Given the description of an element on the screen output the (x, y) to click on. 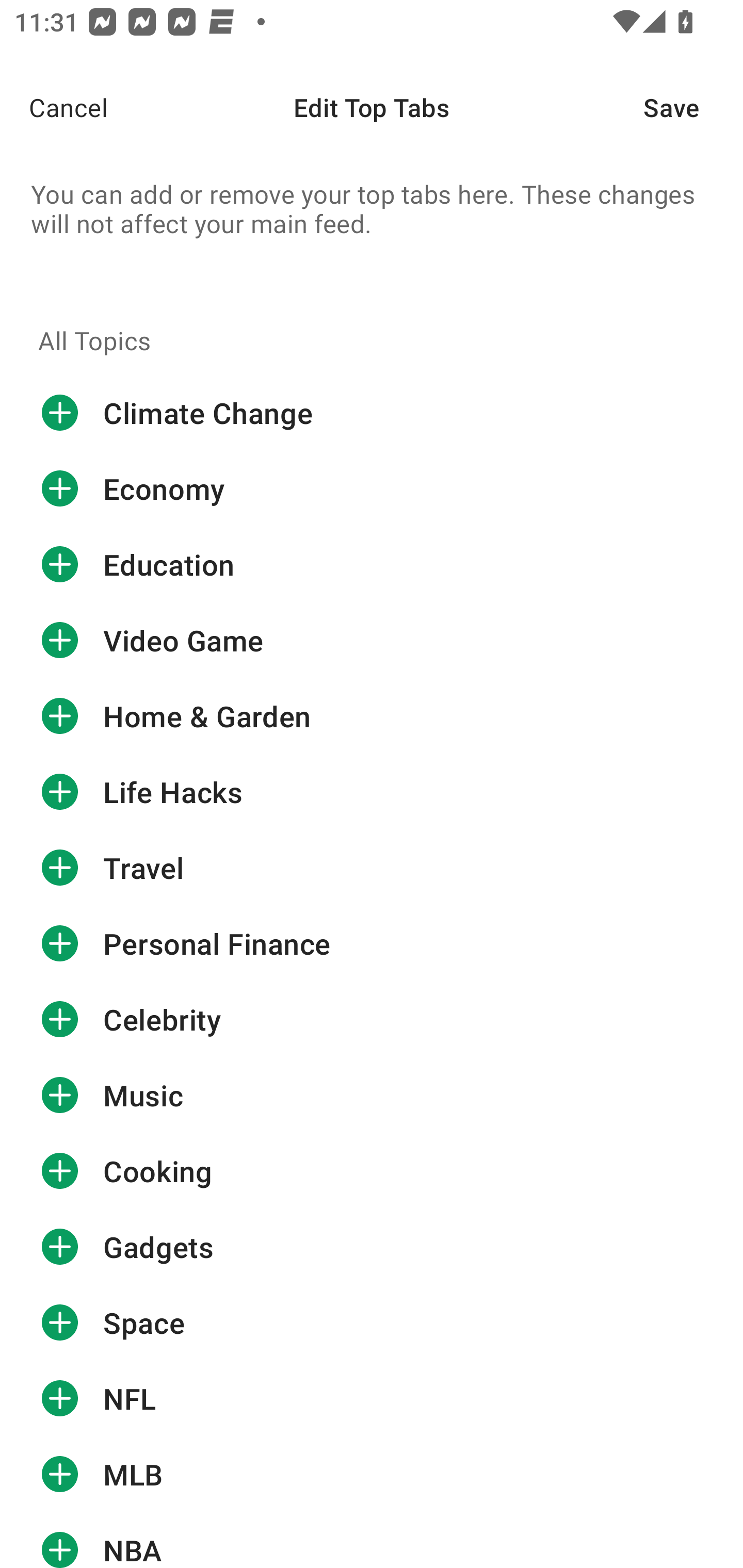
Cancel (53, 106)
Save (693, 106)
Climate Change (371, 412)
Economy (371, 488)
Education (371, 564)
Video Game (371, 640)
Home & Garden (371, 716)
Life Hacks (371, 791)
Travel (371, 867)
Personal Finance (371, 943)
Celebrity (371, 1018)
Music (371, 1094)
Cooking (371, 1170)
Gadgets (371, 1246)
Space (371, 1322)
NFL (371, 1398)
MLB (371, 1473)
NBA (371, 1539)
